Given the description of an element on the screen output the (x, y) to click on. 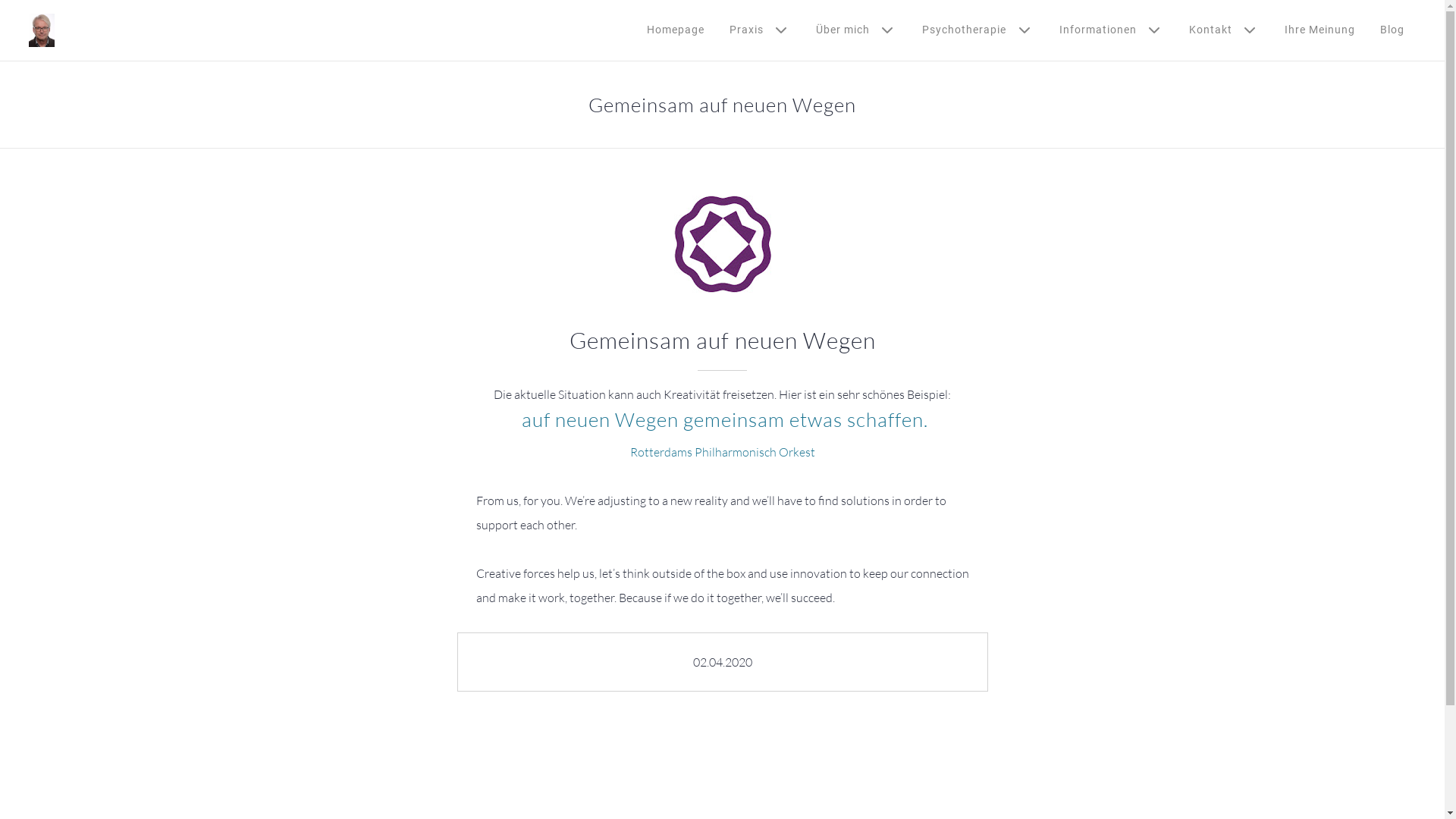
Praxis Dr. med. Axel Weiss Element type: hover (41, 30)
Homepage Element type: text (675, 29)
 auf neuen Wegen gemeinsam etwas schaffen. Element type: text (722, 419)
Ihre Meinung Element type: text (1319, 29)
Gemeinsam auf neuen Wegen Element type: hover (721, 243)
Rotterdams Philharmonisch Orkest Element type: text (721, 451)
Blog Element type: text (1391, 29)
